Given the description of an element on the screen output the (x, y) to click on. 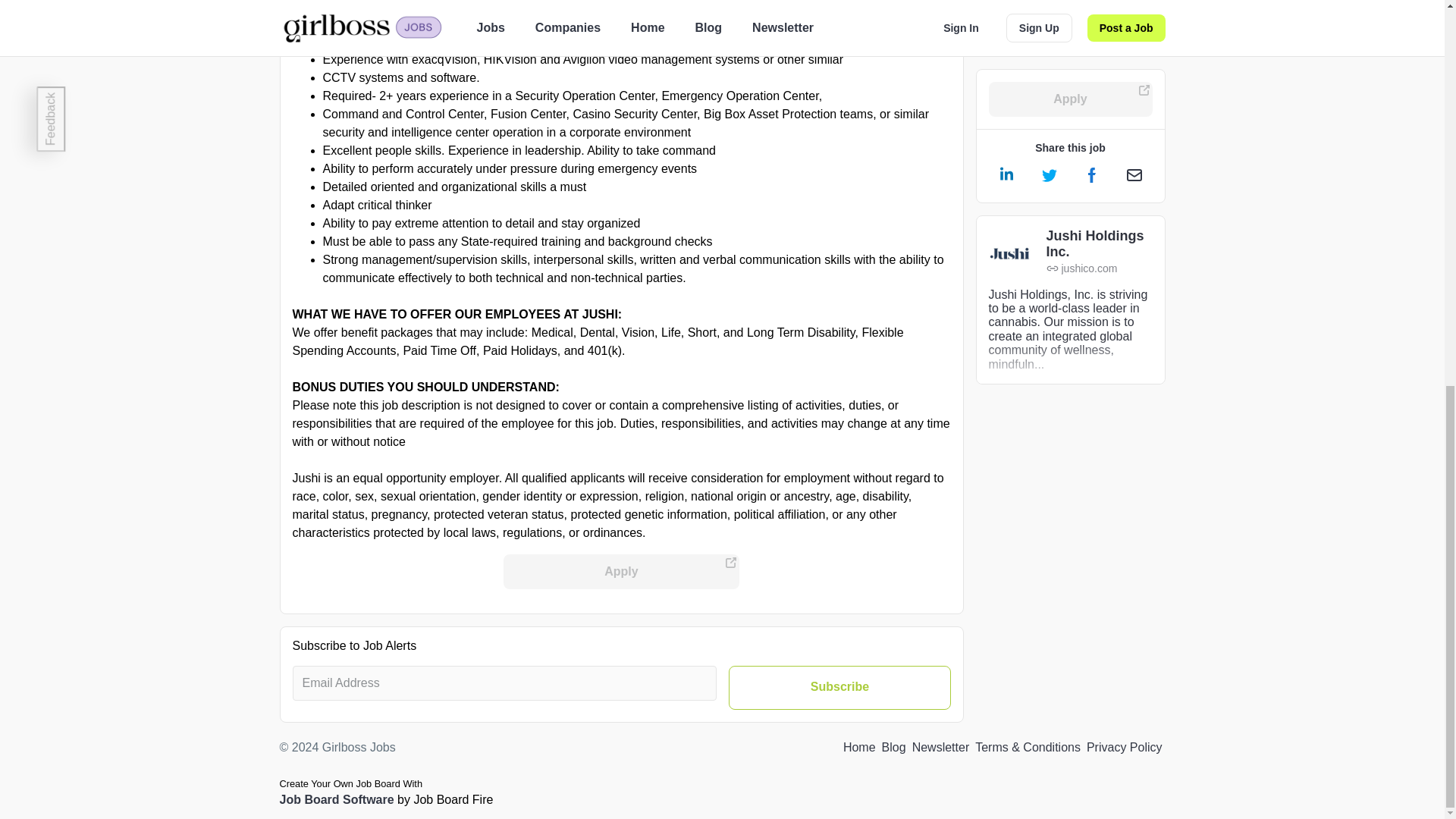
Subscribe (839, 687)
Home (859, 747)
Privacy Policy (1124, 747)
Apply (621, 571)
Job Board Software (336, 799)
Job Board Software (336, 799)
Blog (893, 747)
Newsletter (940, 747)
